Given the description of an element on the screen output the (x, y) to click on. 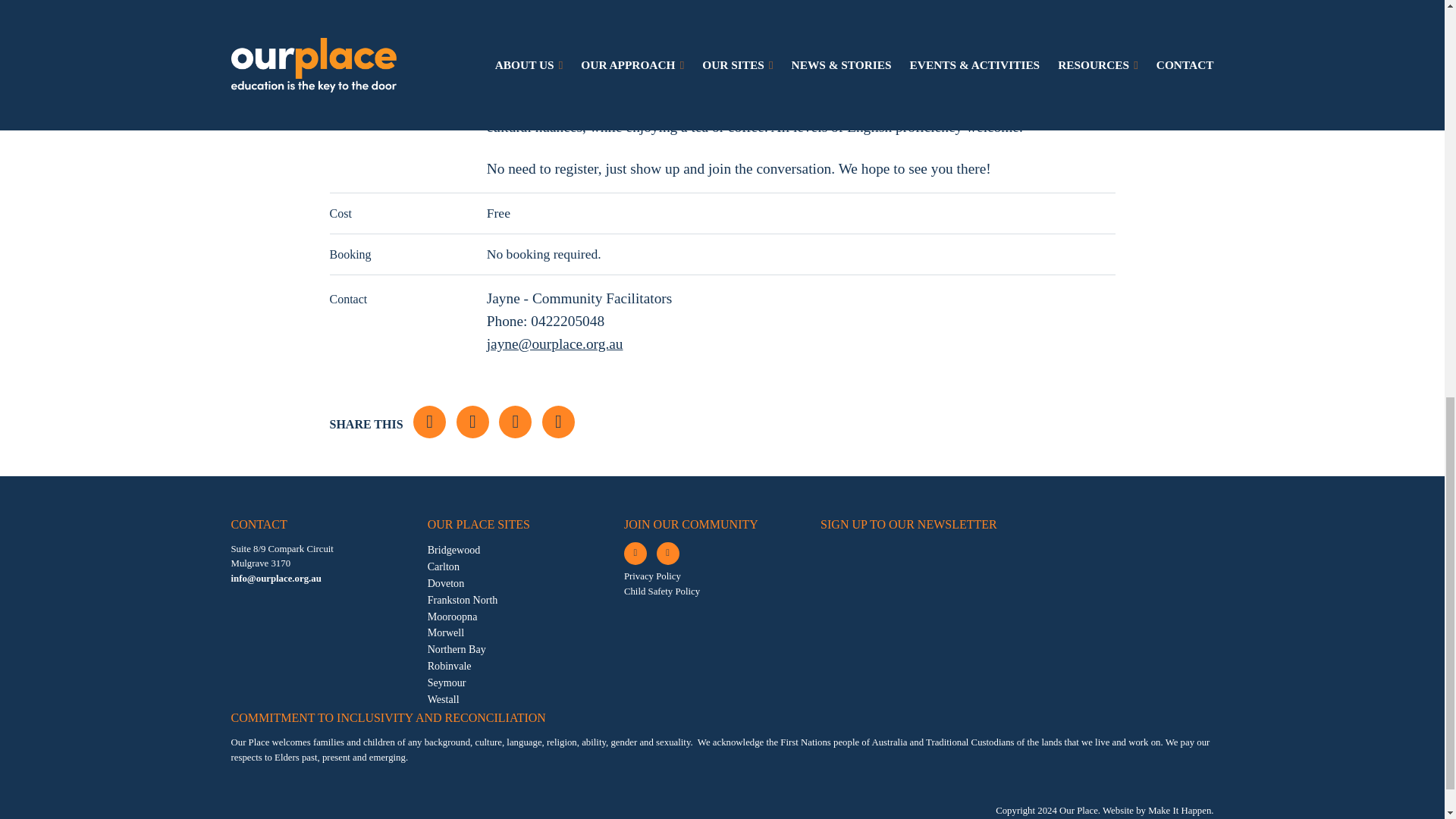
Share on LinkedIn (515, 421)
Share on Twitter (473, 421)
Share on Facebook (429, 421)
